Given the description of an element on the screen output the (x, y) to click on. 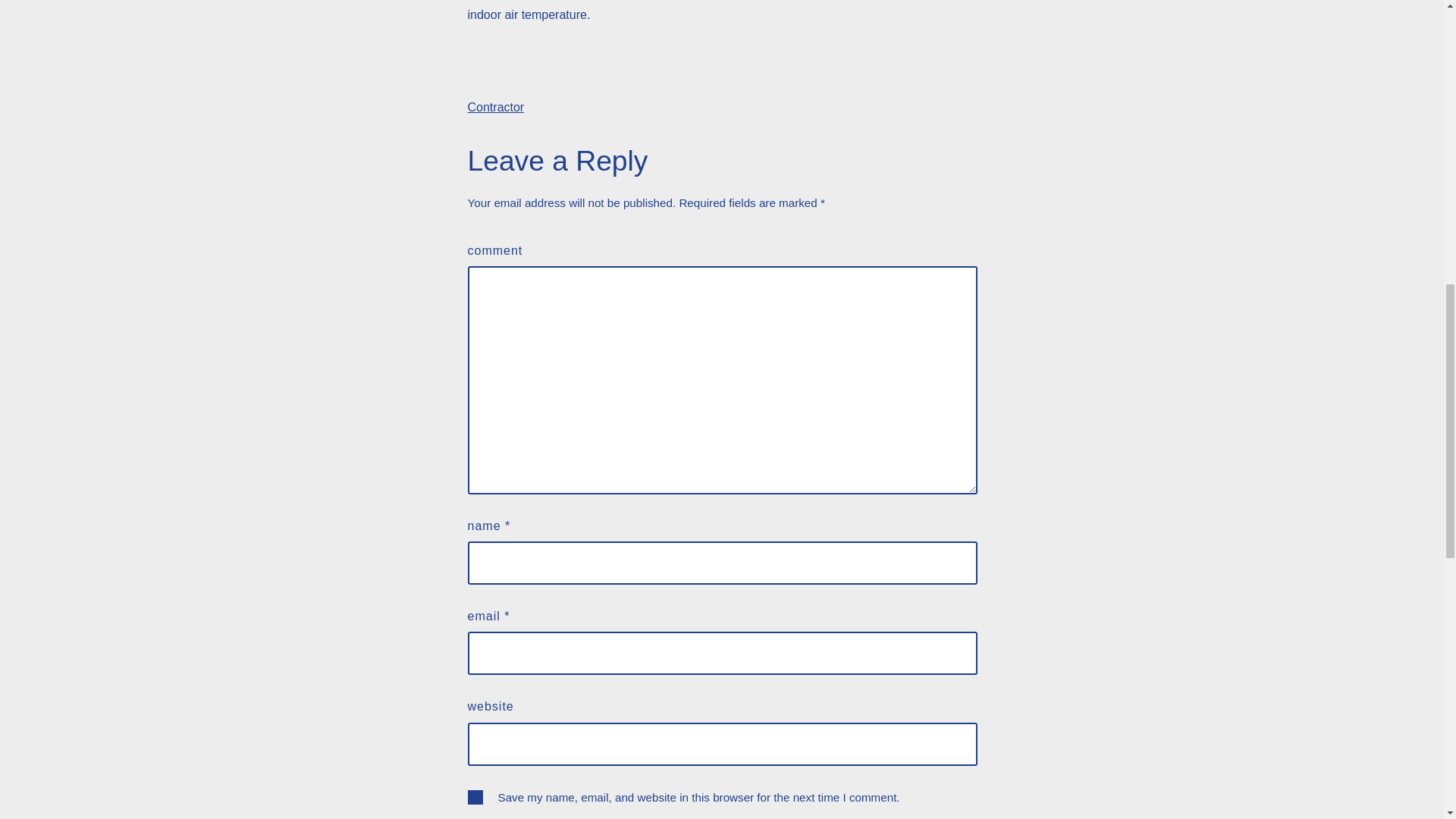
Contractor (495, 106)
